Given the description of an element on the screen output the (x, y) to click on. 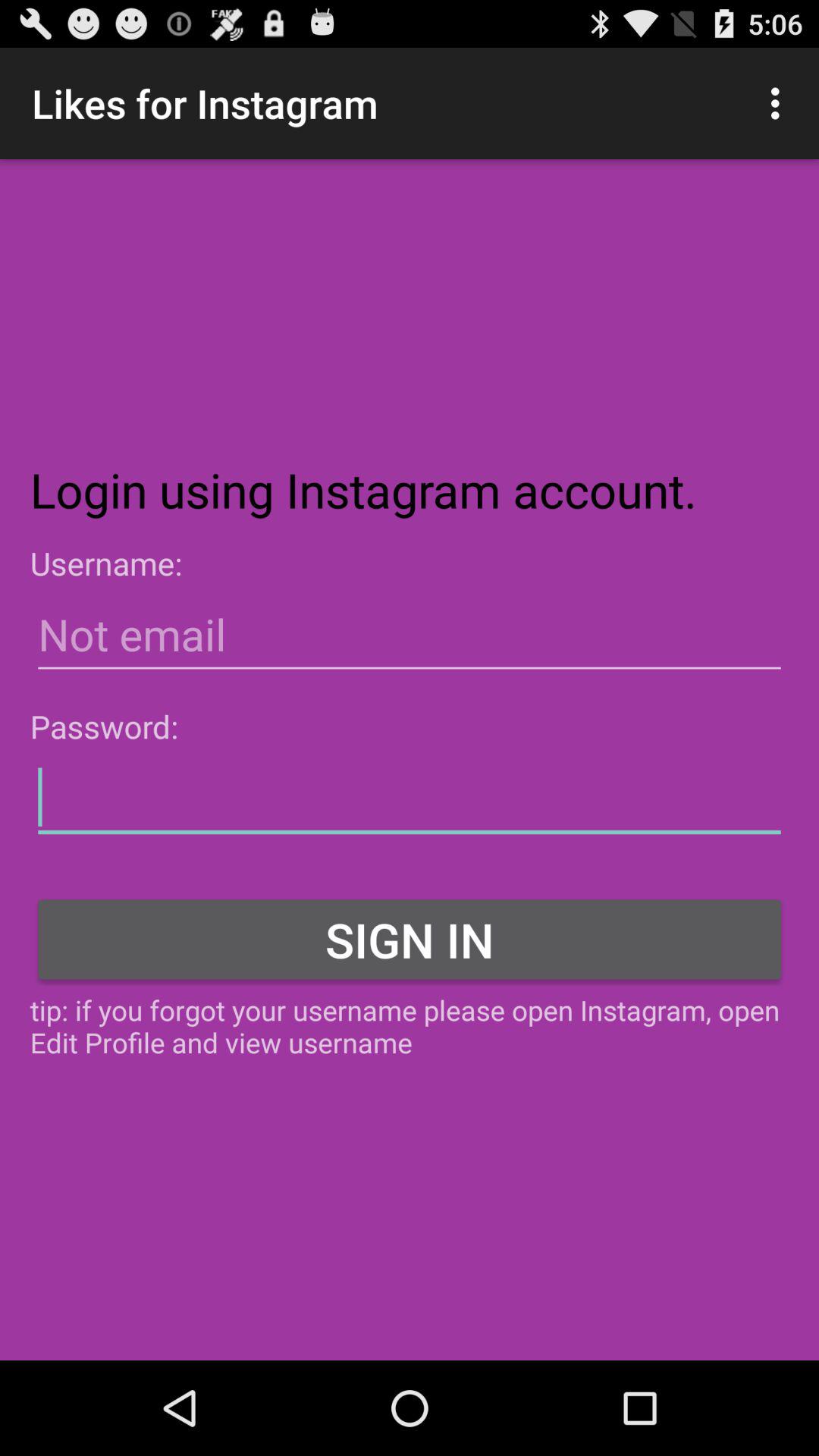
launch the icon at the top right corner (779, 103)
